Given the description of an element on the screen output the (x, y) to click on. 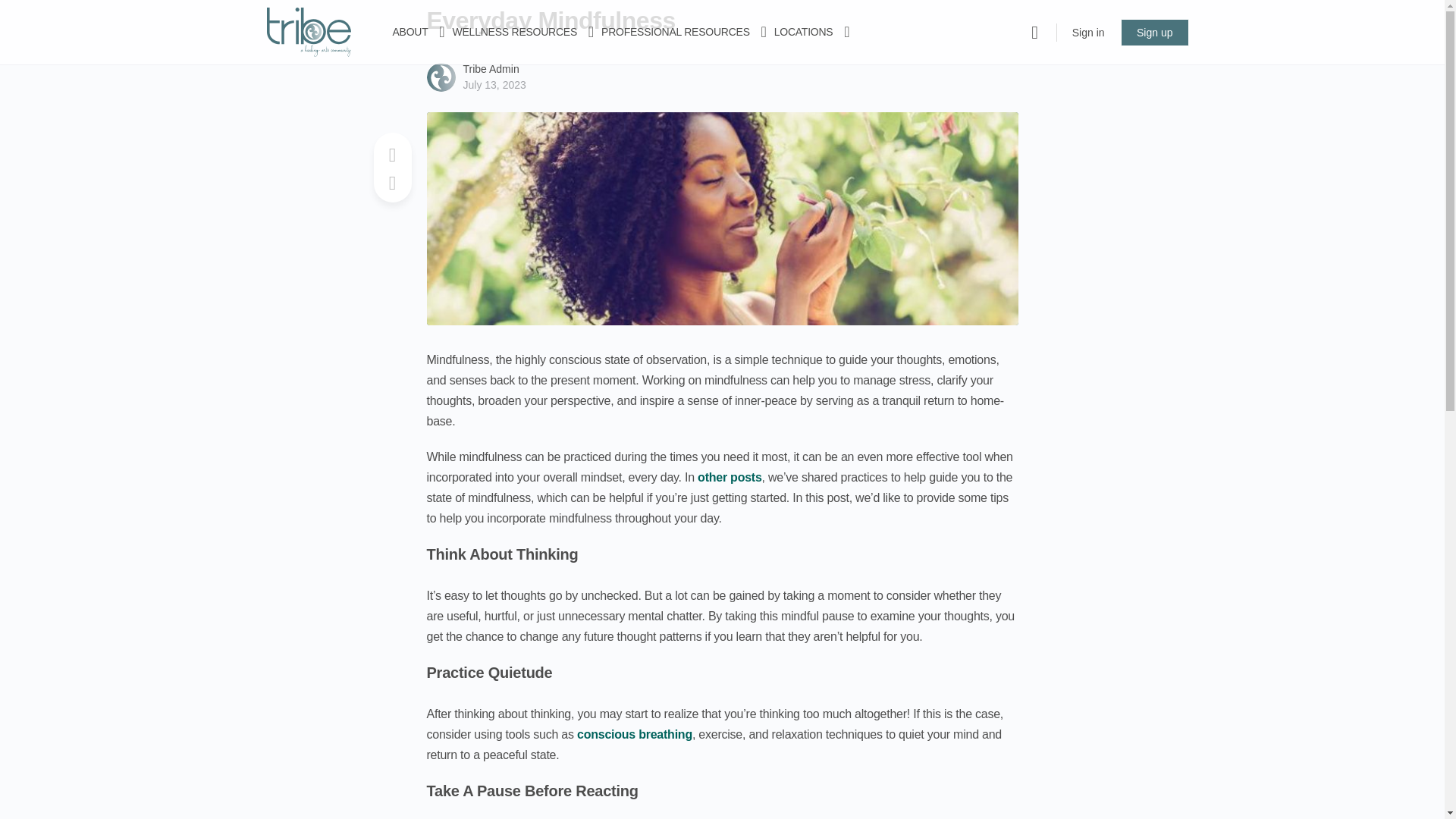
PROFESSIONAL RESOURCES (675, 32)
Sign in (1087, 32)
WELLNESS RESOURCES (515, 32)
Sign up (1154, 31)
LOCATIONS (803, 32)
